Given the description of an element on the screen output the (x, y) to click on. 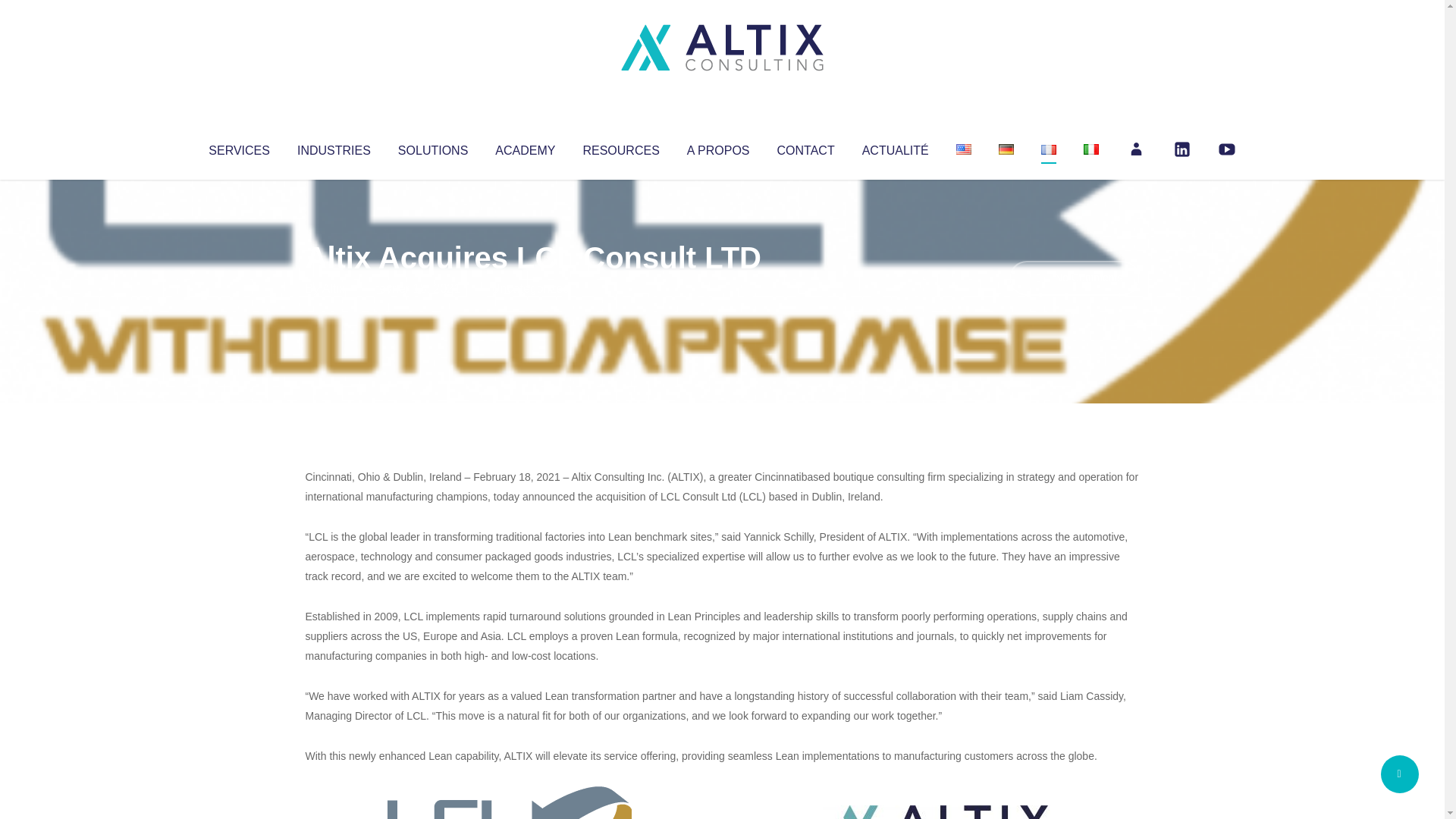
SOLUTIONS (432, 146)
A PROPOS (718, 146)
ACADEMY (524, 146)
SERVICES (238, 146)
Articles par Altix (333, 287)
No Comments (1073, 278)
RESOURCES (620, 146)
INDUSTRIES (334, 146)
Altix (333, 287)
Uncategorized (530, 287)
